Given the description of an element on the screen output the (x, y) to click on. 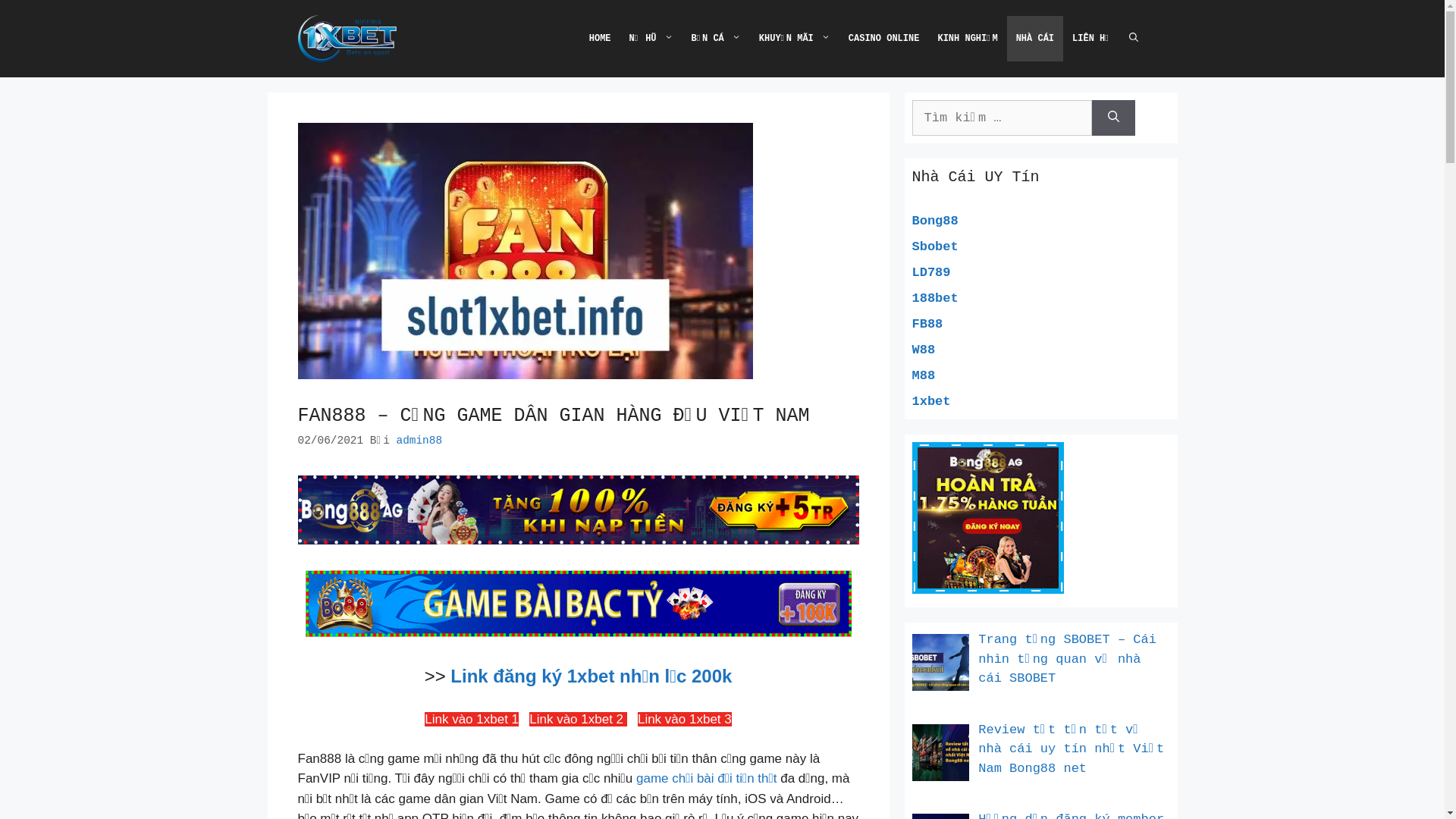
1xbett365.com Element type: hover (346, 38)
Sbobet Element type: text (934, 246)
admin88 Element type: text (418, 440)
CASINO ONLINE Element type: text (883, 38)
M88 Element type: text (923, 375)
188bet Element type: text (934, 298)
Bong88 Element type: text (934, 220)
1xbet Element type: text (930, 401)
W88 Element type: text (923, 349)
1xbett365.com Element type: hover (346, 38)
HOME Element type: text (600, 38)
LD789 Element type: text (930, 272)
FB88 Element type: text (926, 323)
